Given the description of an element on the screen output the (x, y) to click on. 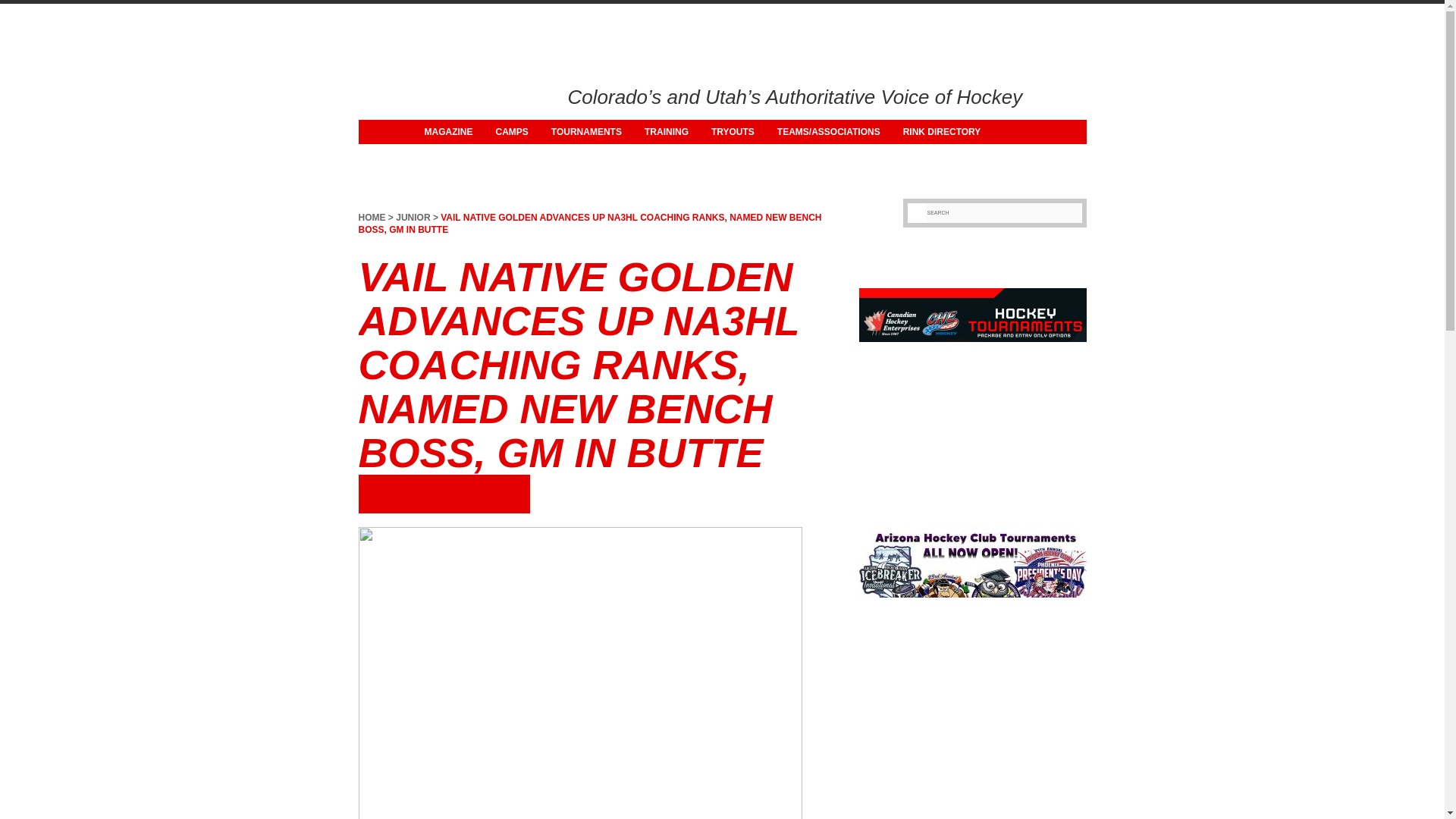
TRYOUTS (732, 131)
MAGAZINE (447, 131)
ALUMNI (441, 156)
CAMPS (510, 131)
RINK DIRECTORY (941, 131)
TRAINING (666, 131)
Colorado Rubber (412, 93)
TOURNAMENTS (586, 131)
